Given the description of an element on the screen output the (x, y) to click on. 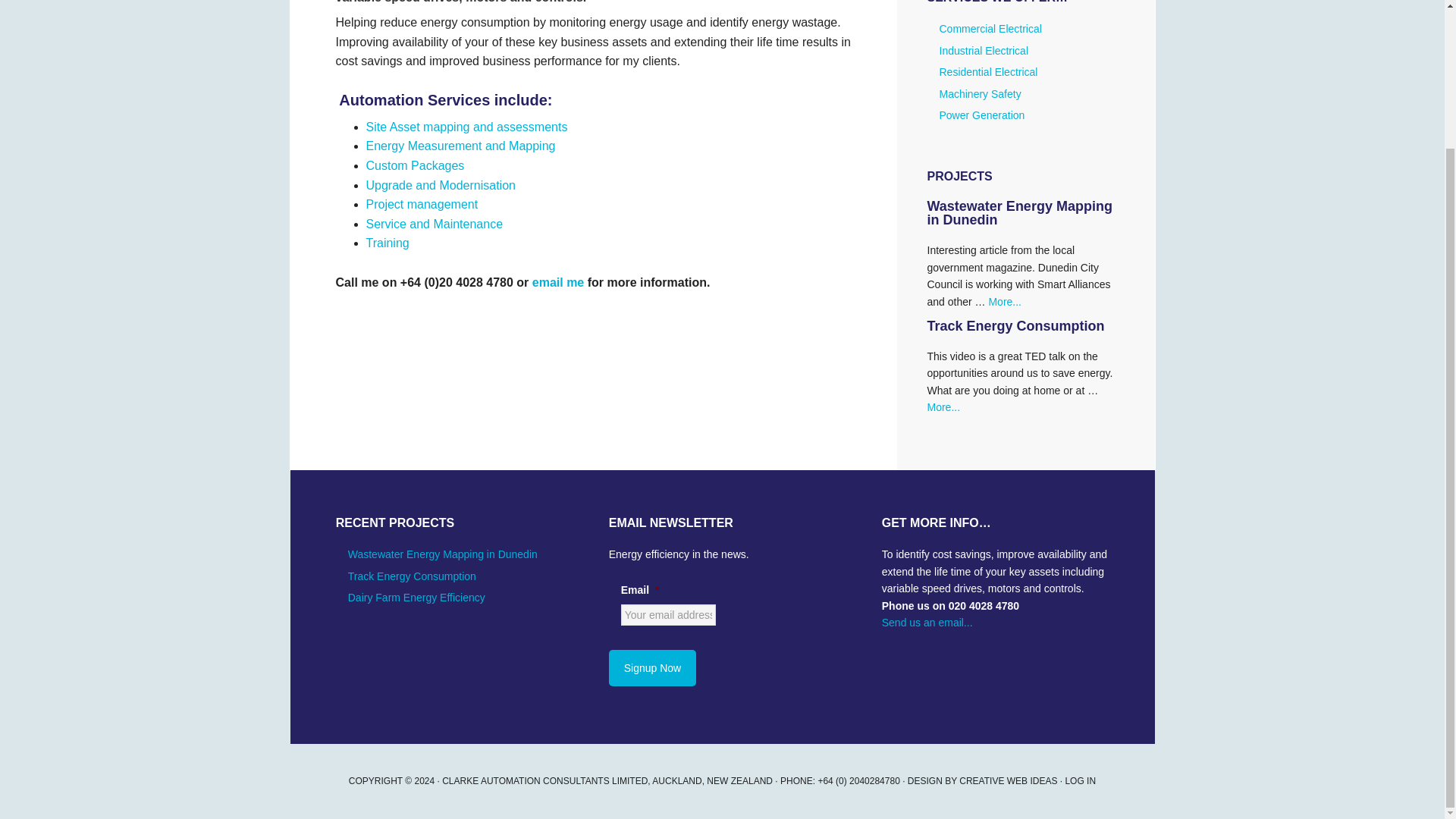
Signup Now (652, 668)
Signup Now (652, 668)
Project management (421, 204)
Track Energy Consumption (411, 576)
Dairy Farm Energy Efficiency (415, 597)
Wastewater Energy Mapping in Dunedin (442, 553)
Track Energy Consumption (1014, 325)
More... (942, 407)
Site Asset mapping and assessments (466, 126)
email me (557, 282)
